Given the description of an element on the screen output the (x, y) to click on. 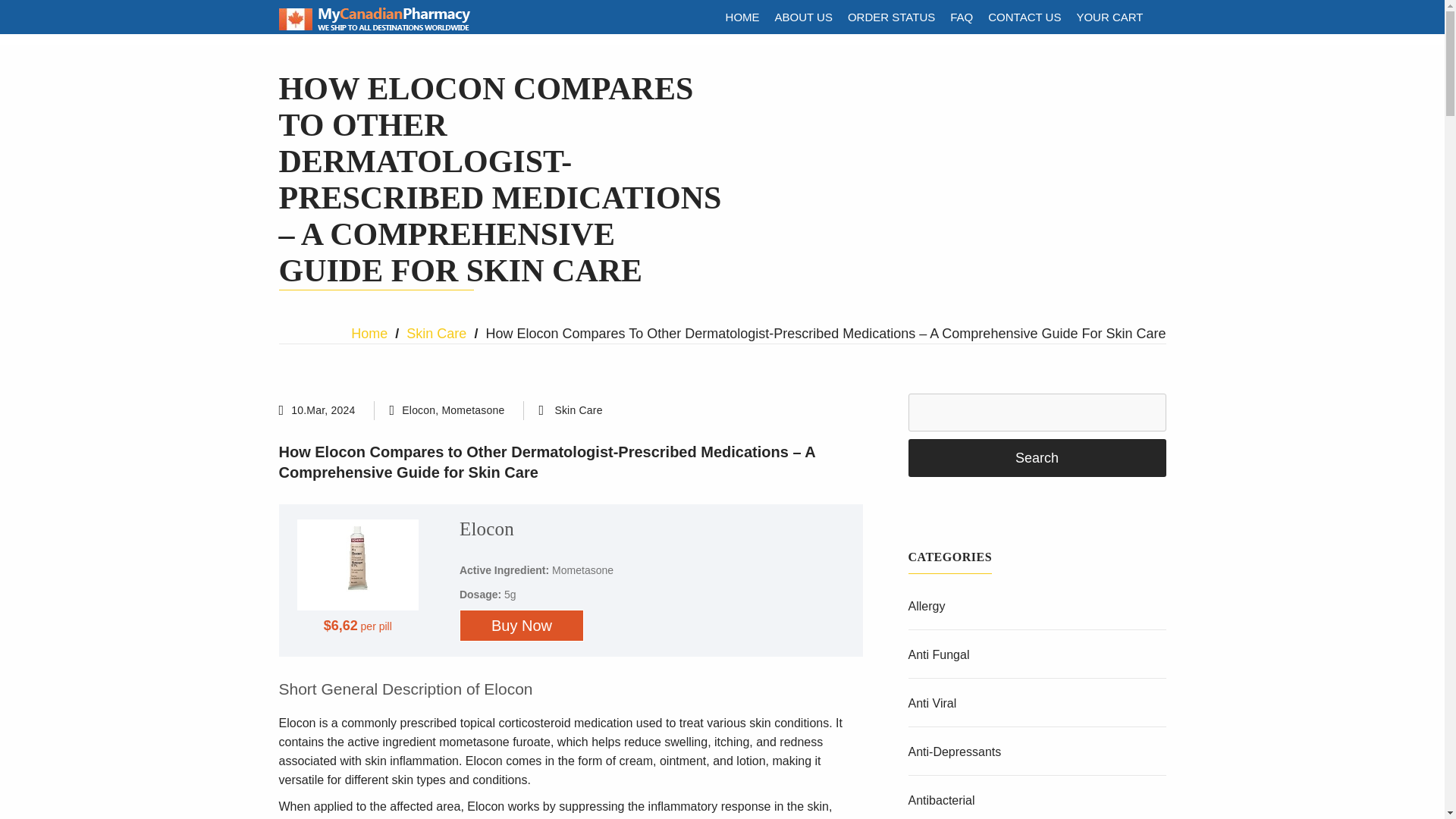
Anti Fungal (938, 654)
CONTACT US (1023, 16)
FAQ (960, 16)
My Canadian Pharmacy (374, 26)
Skin Care (435, 333)
Elocon, Mometasone (452, 410)
ORDER STATUS (891, 16)
Skin Care (578, 410)
Allergy (926, 605)
Antibacterial (941, 799)
YOUR CART (1109, 16)
Home (368, 333)
logo (374, 18)
Search (1037, 457)
ABOUT US (803, 16)
